Given the description of an element on the screen output the (x, y) to click on. 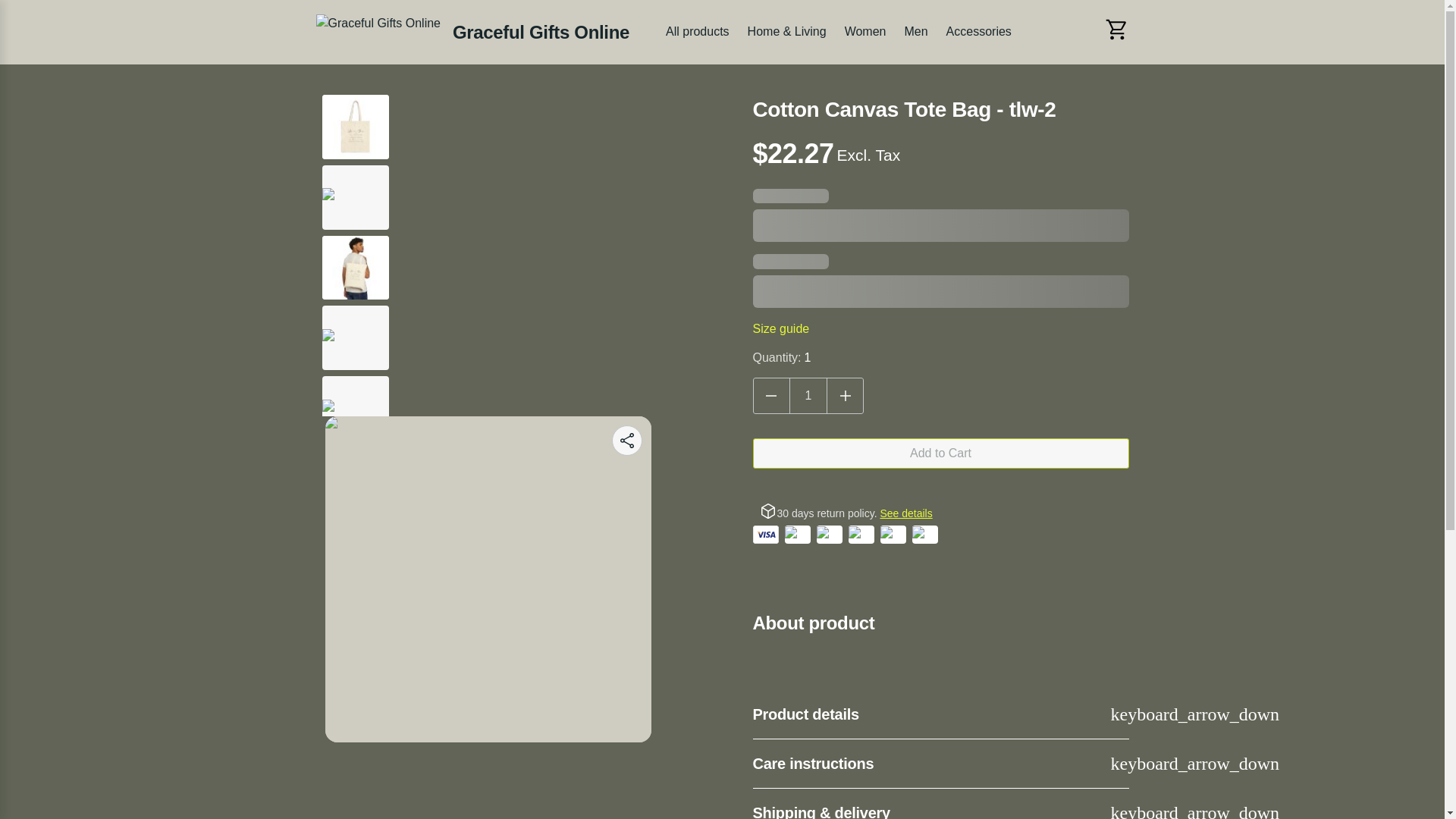
Graceful Gifts Online (471, 31)
1 (808, 395)
Care instructions (940, 763)
Cotton Canvas Tote Bag - tlw-2 product thumbnail image (354, 126)
Women (865, 31)
Cotton Canvas Tote Bag - tlw-2 product thumbnail image (354, 267)
Size guide (780, 328)
See details (905, 512)
Add to Cart (940, 453)
Cotton Canvas Tote Bag - tlw-2 product main image (487, 579)
Product details (940, 714)
Men (915, 31)
Cotton Canvas Tote Bag - tlw-2 product thumbnail image (354, 197)
Accessories (978, 31)
Cotton Canvas Tote Bag - tlw-2 product thumbnail image (354, 338)
